Given the description of an element on the screen output the (x, y) to click on. 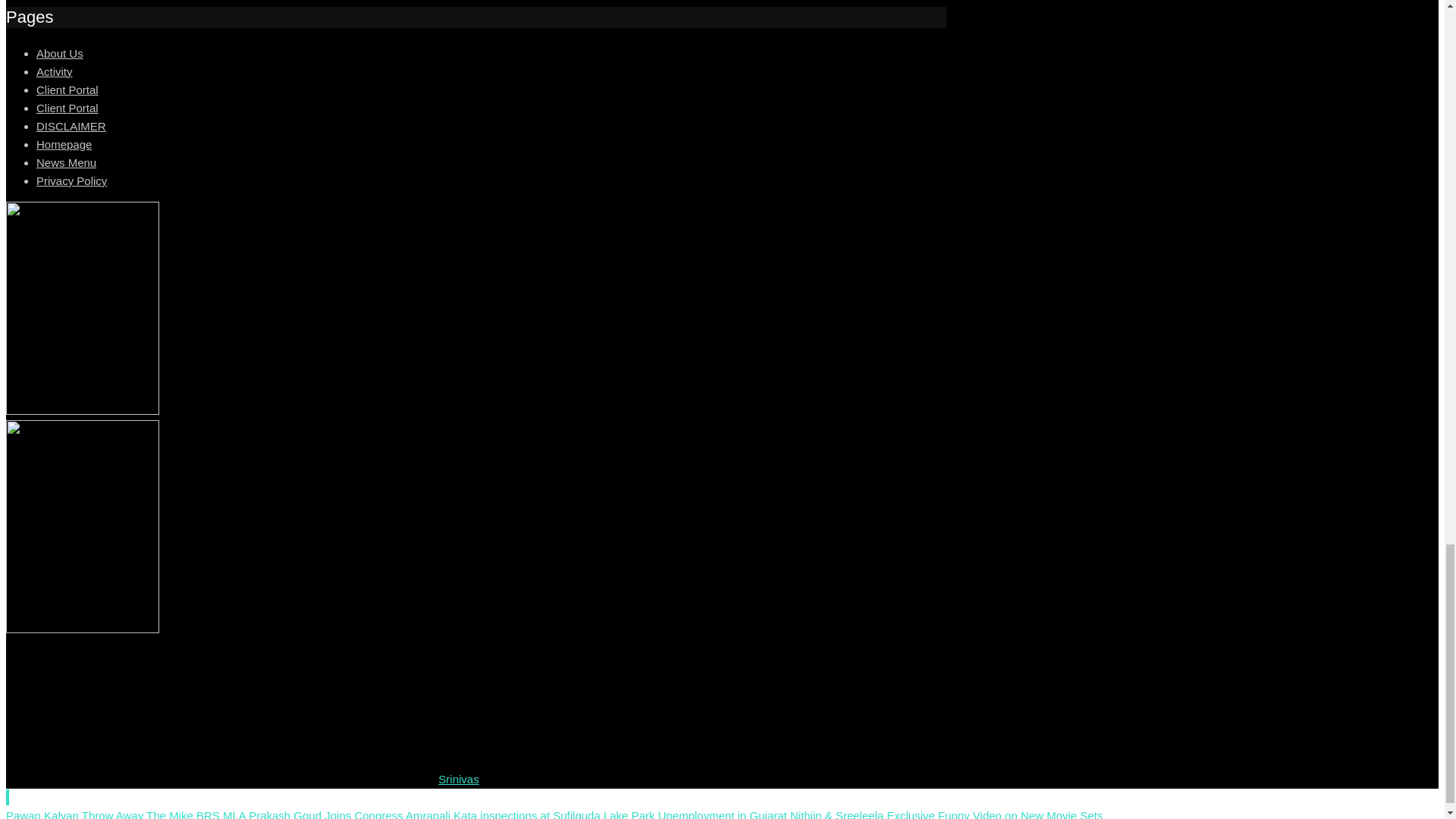
News Menu (66, 162)
Homepage (63, 144)
About Us (59, 52)
DISCLAIMER (71, 125)
Client Portal (67, 107)
Client Portal (67, 89)
Privacy Policy (71, 180)
Activity (54, 71)
